Given the description of an element on the screen output the (x, y) to click on. 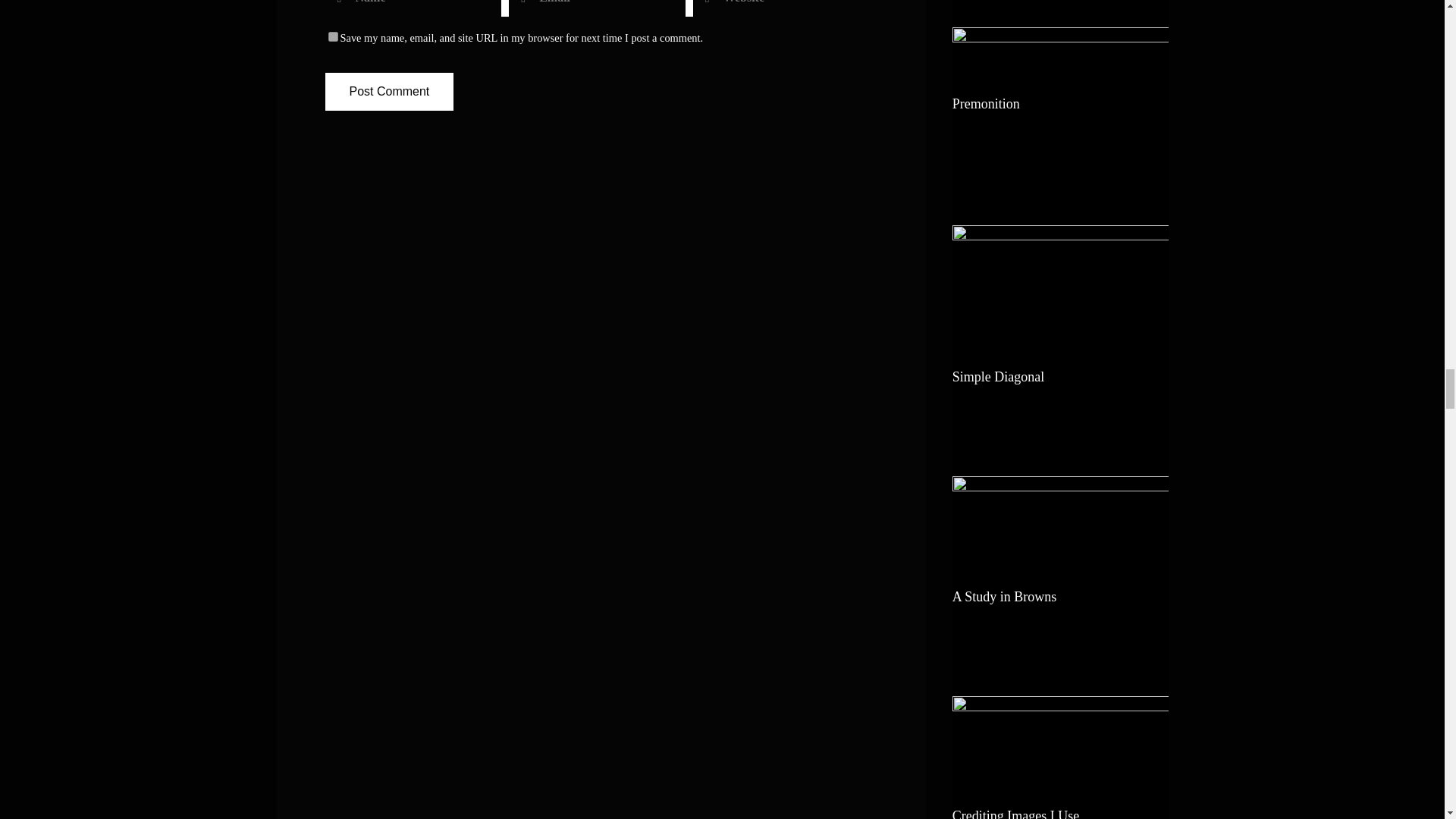
yes (332, 36)
Post Comment (388, 91)
